Given the description of an element on the screen output the (x, y) to click on. 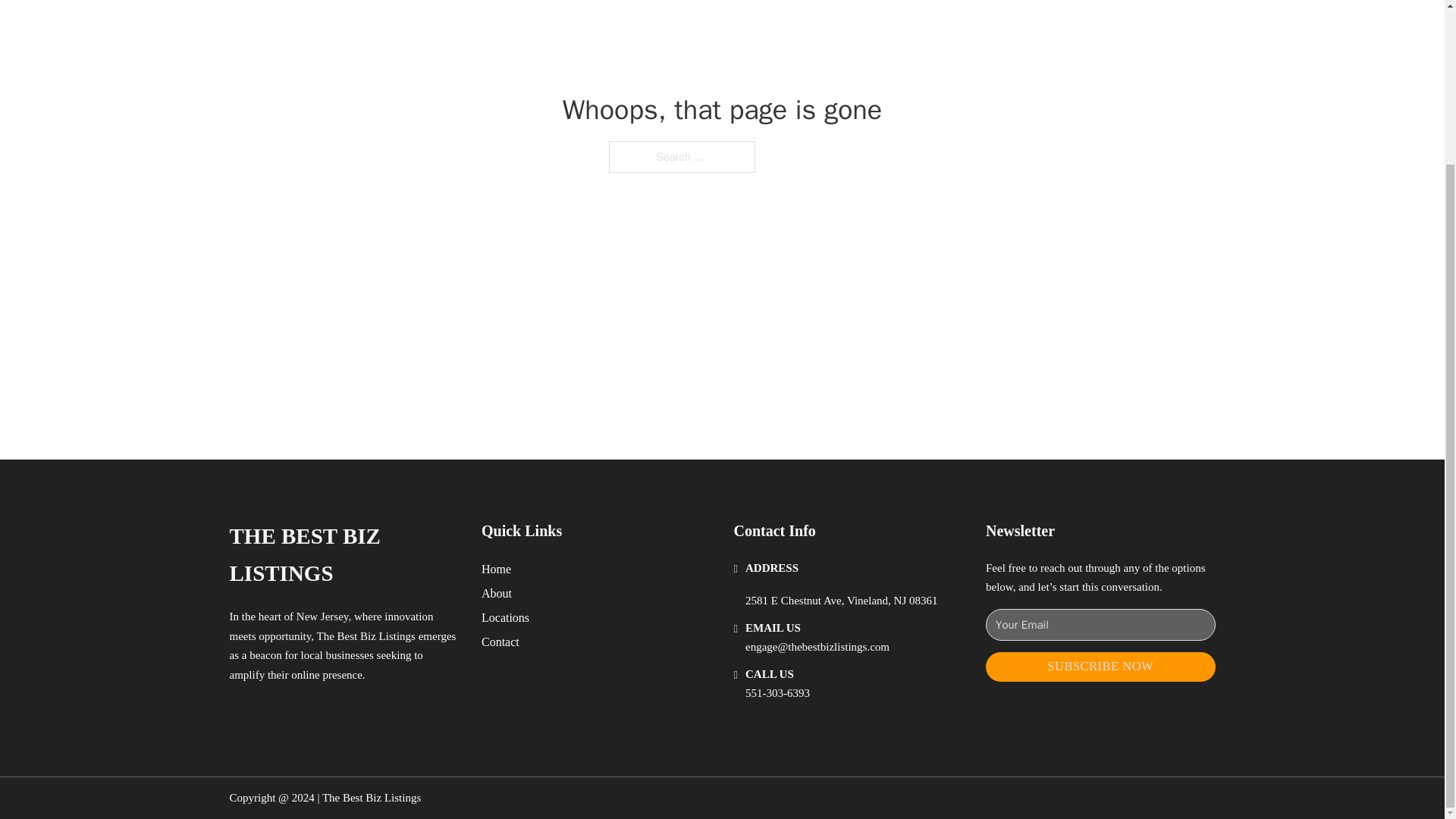
551-303-6393 (777, 693)
Home (496, 568)
SUBSCRIBE NOW (1100, 666)
Locations (505, 617)
Contact (500, 641)
About (496, 593)
THE BEST BIZ LISTINGS (343, 554)
